Given the description of an element on the screen output the (x, y) to click on. 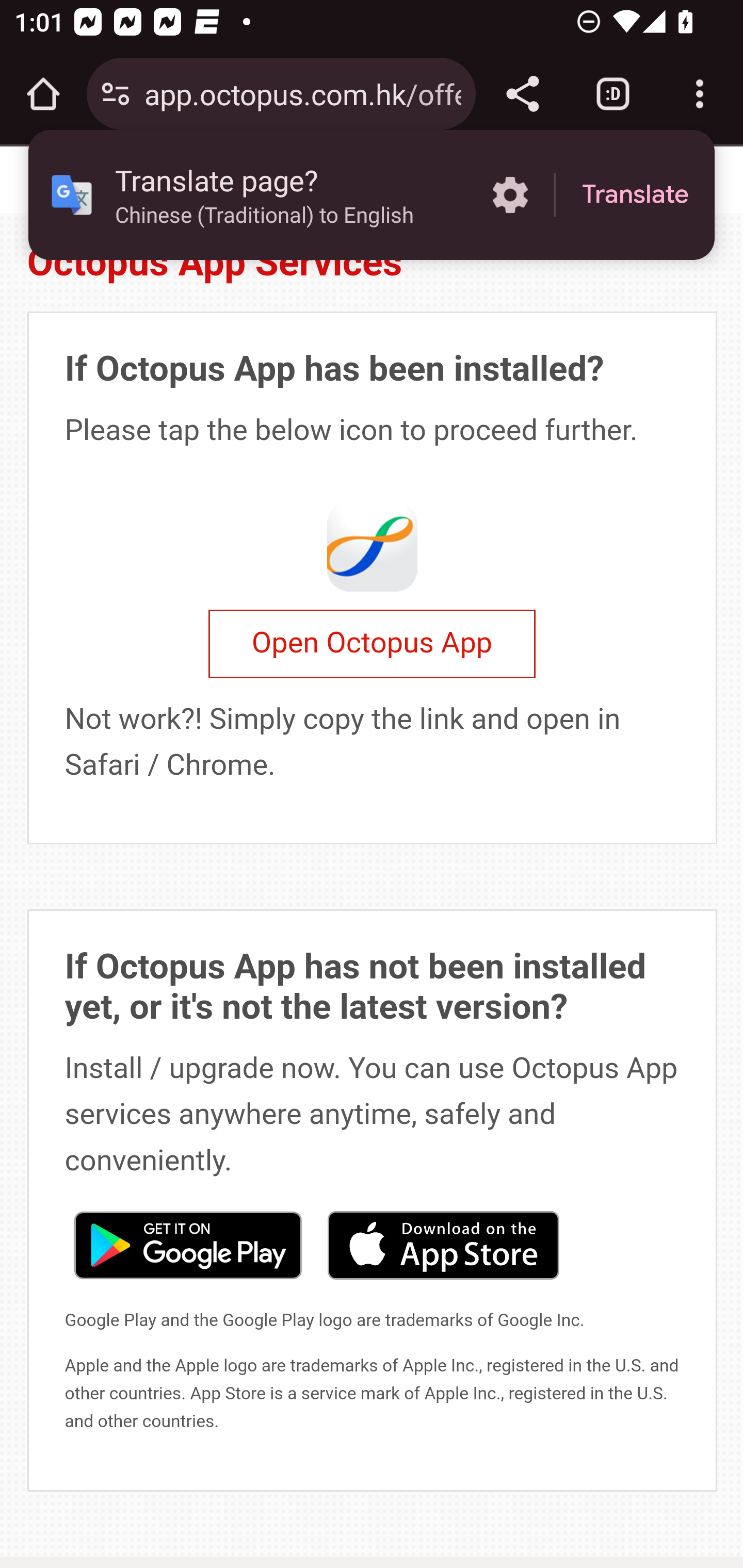
Open the home page (43, 93)
Connection is secure (115, 93)
Share (522, 93)
Switch or close tabs (612, 93)
Customize and control Google Chrome (699, 93)
Translate (634, 195)
More options in the Translate page? (509, 195)
Open Octopus App (371, 643)
Get it on Google Play (187, 1243)
Download on the App Store (443, 1243)
